Given the description of an element on the screen output the (x, y) to click on. 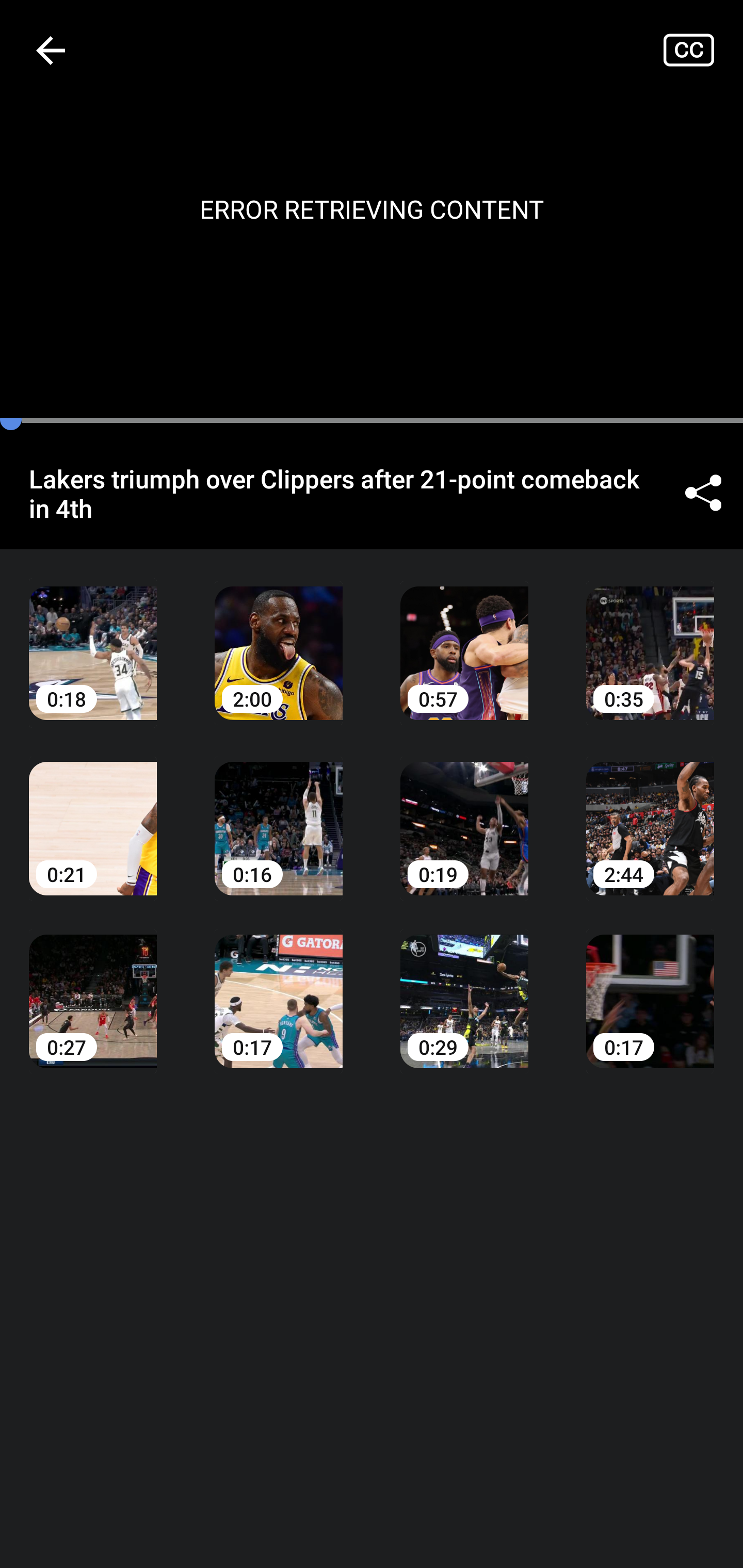
Navigate up (50, 50)
Closed captions  (703, 49)
Share © (703, 493)
0:18 (92, 637)
2:00 (278, 637)
0:57 (464, 637)
0:35 (650, 637)
0:21 (92, 813)
0:16 (278, 813)
0:19 (464, 813)
2:44 (650, 813)
0:27 (92, 987)
0:17 (278, 987)
0:29 (464, 987)
0:17 (650, 987)
